Given the description of an element on the screen output the (x, y) to click on. 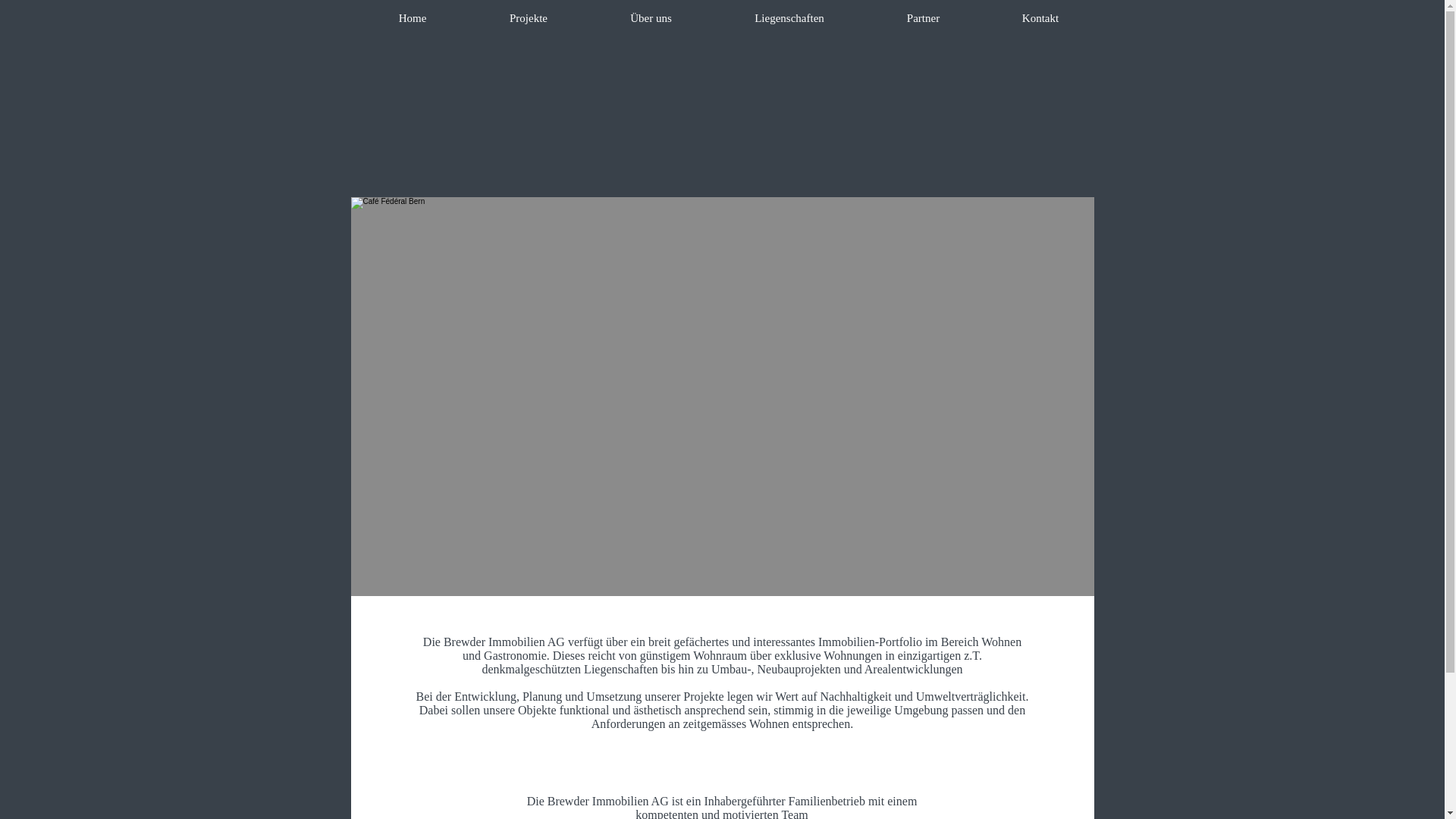
Home Element type: text (411, 17)
Projekte Element type: text (528, 17)
Kontakt Element type: text (1040, 17)
Liegenschaften Element type: text (788, 17)
Partner Element type: text (923, 17)
